Given the description of an element on the screen output the (x, y) to click on. 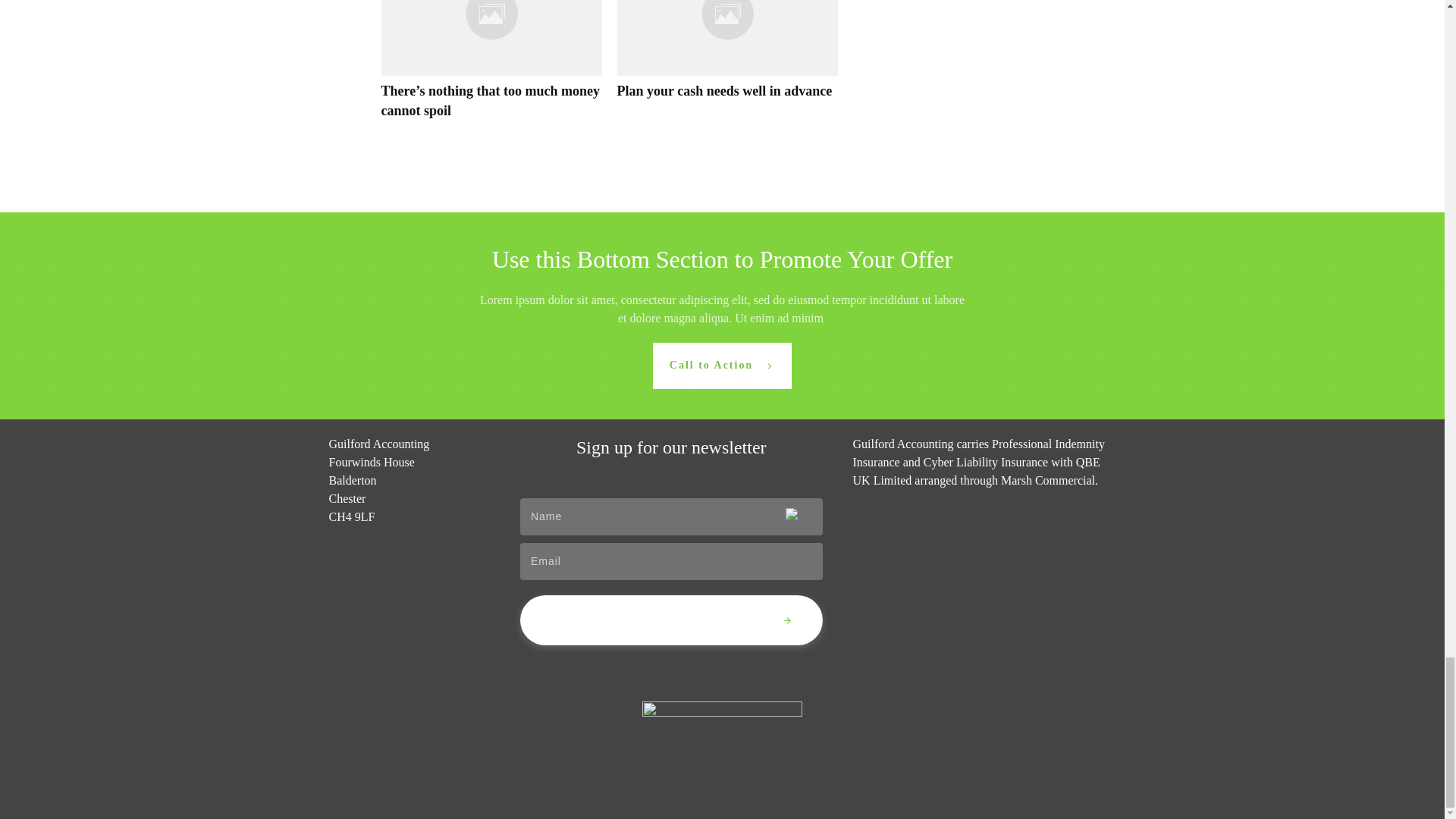
xero-certified-advisor (722, 739)
Plan your cash needs well in advance (724, 90)
Plan your cash needs well in advance (727, 67)
Plan your cash needs well in advance (724, 90)
